Given the description of an element on the screen output the (x, y) to click on. 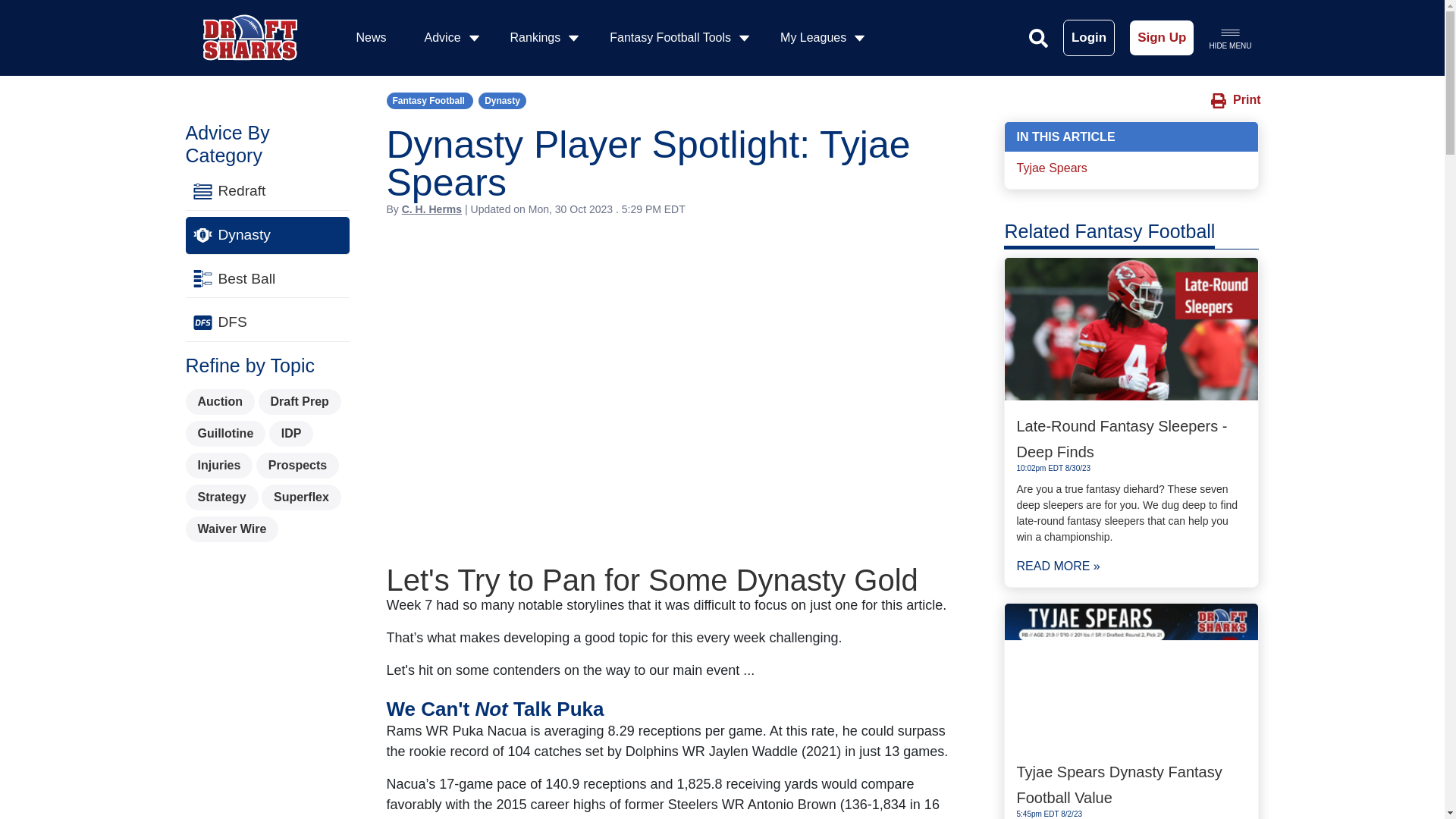
HIDE MENU (1229, 37)
Sign Up (1161, 37)
Login (1088, 37)
